Given the description of an element on the screen output the (x, y) to click on. 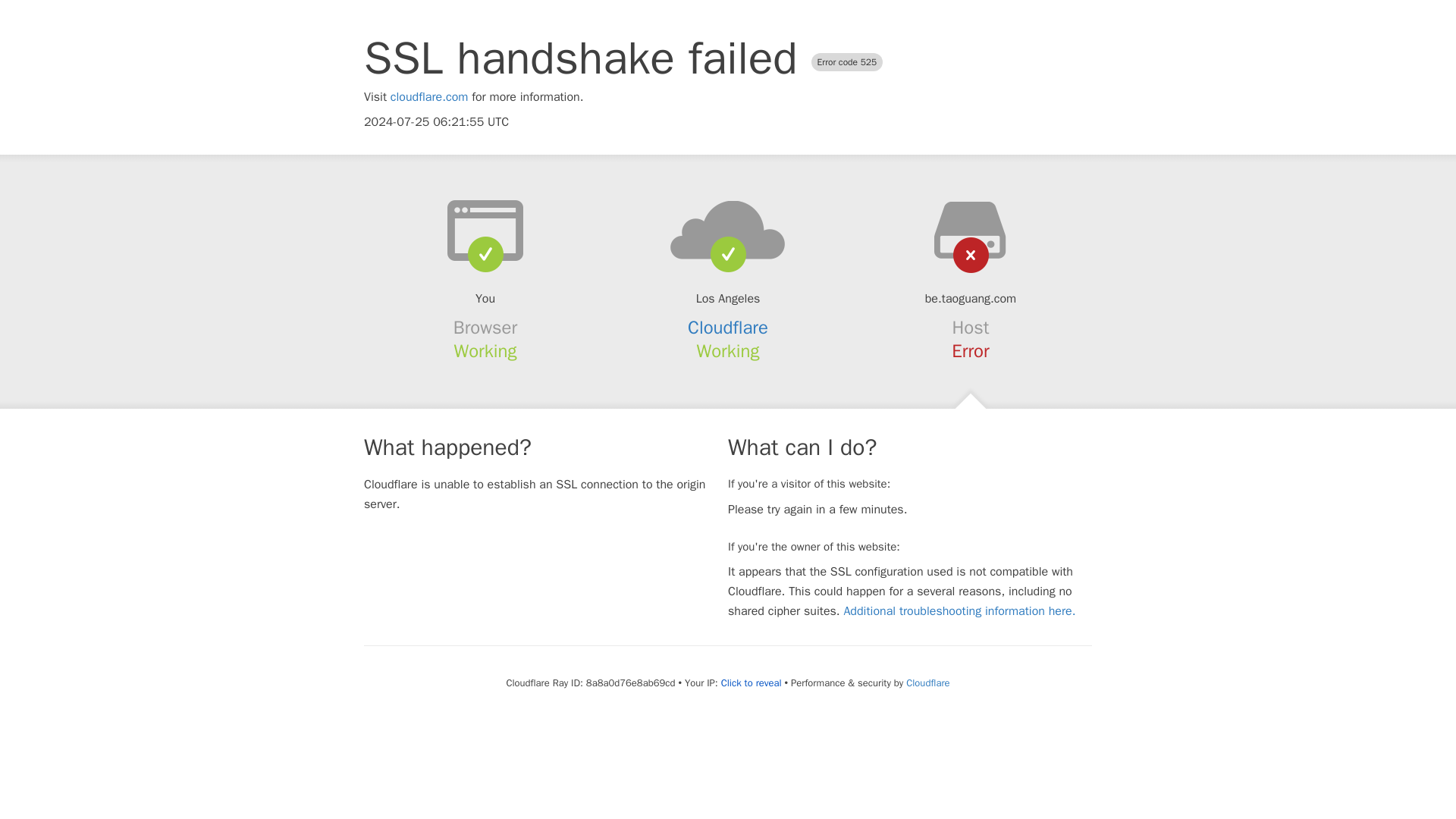
Cloudflare (927, 682)
Additional troubleshooting information here. (959, 611)
Cloudflare (727, 327)
cloudflare.com (429, 96)
Click to reveal (750, 683)
